Given the description of an element on the screen output the (x, y) to click on. 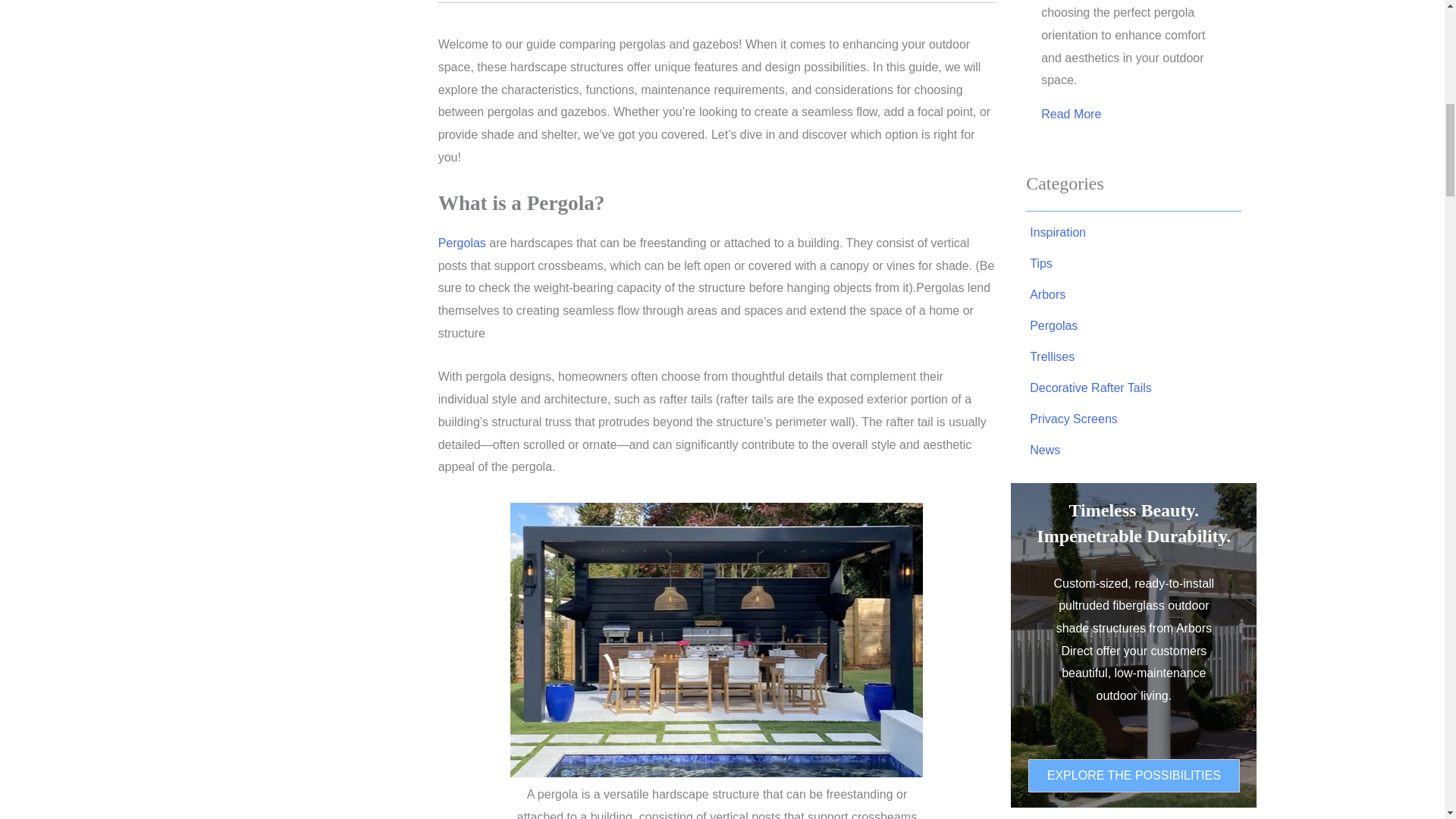
How to Choose the Best Direction to Face Your Pergola (1070, 114)
